Given the description of an element on the screen output the (x, y) to click on. 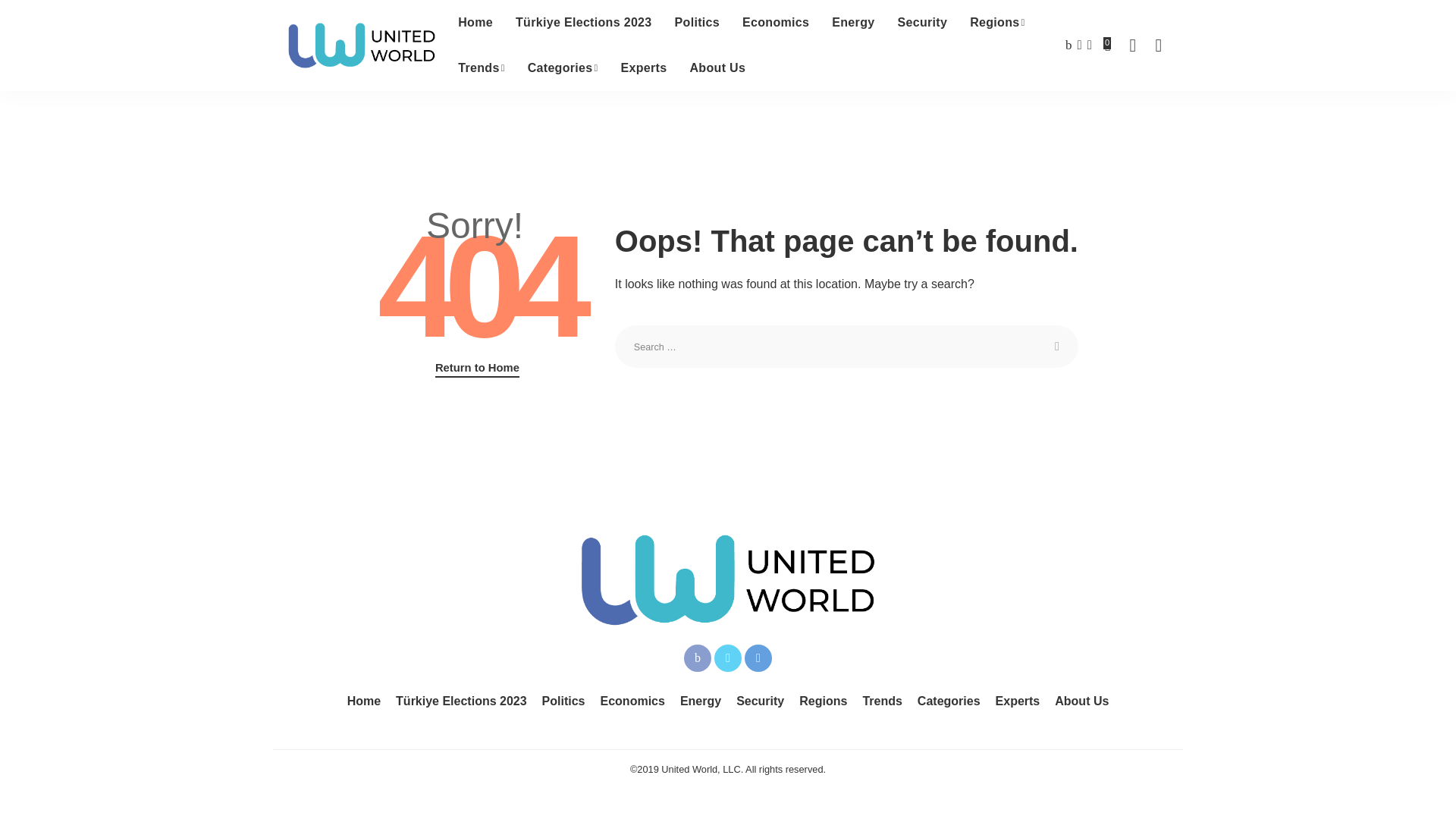
Search (1056, 346)
United World International (361, 44)
Search (1056, 346)
Twitter (727, 657)
Facebook (697, 657)
Return to Home (477, 368)
Telegram (757, 657)
